Given the description of an element on the screen output the (x, y) to click on. 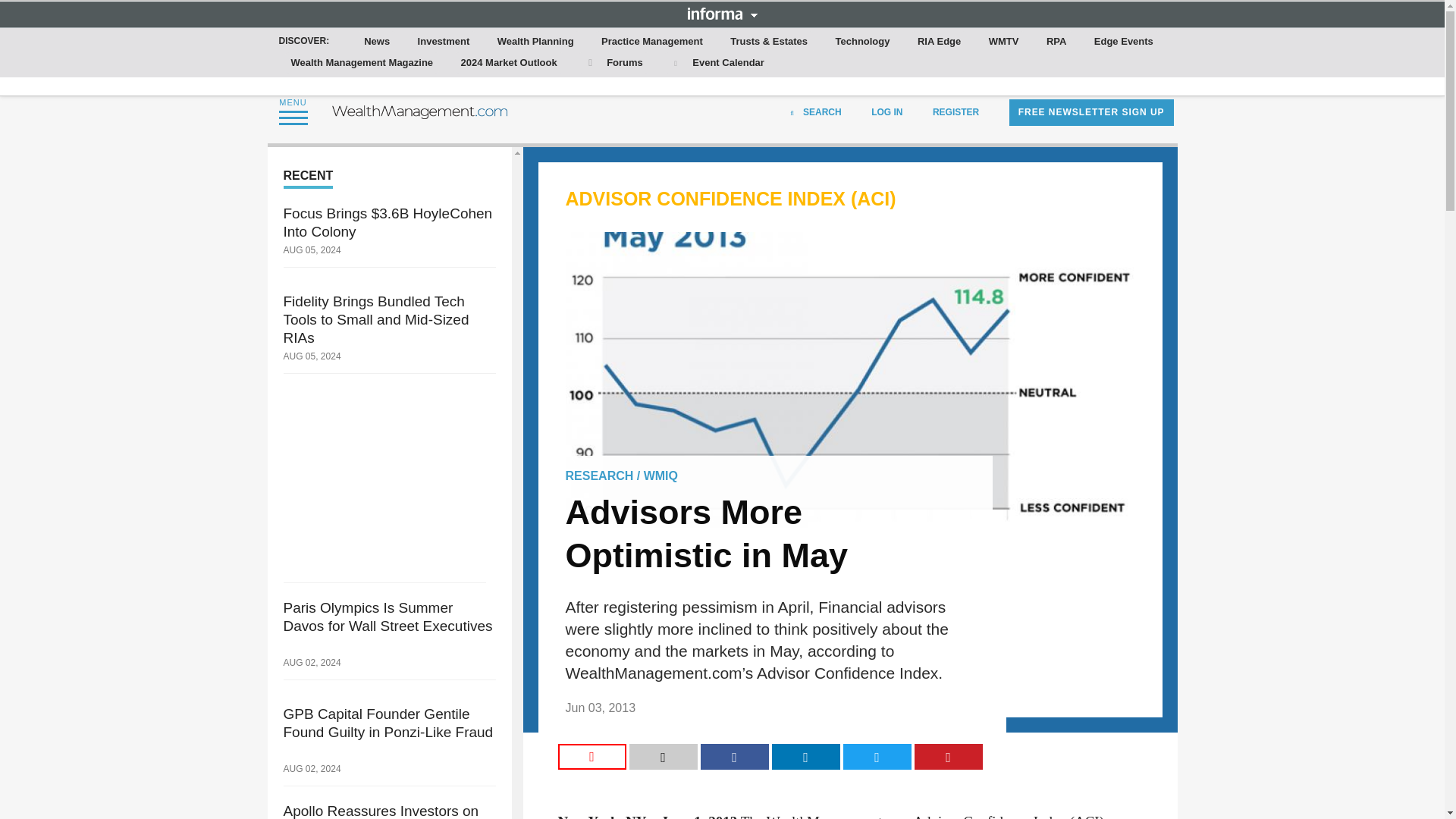
News (377, 41)
Wealth Management Magazine (362, 62)
Investment (444, 41)
Practice Management (652, 41)
Technology (862, 41)
Edge Events (1122, 41)
Event Calendar (716, 62)
RIA Edge (938, 41)
WMTV (1003, 41)
RPA (1056, 41)
